Given the description of an element on the screen output the (x, y) to click on. 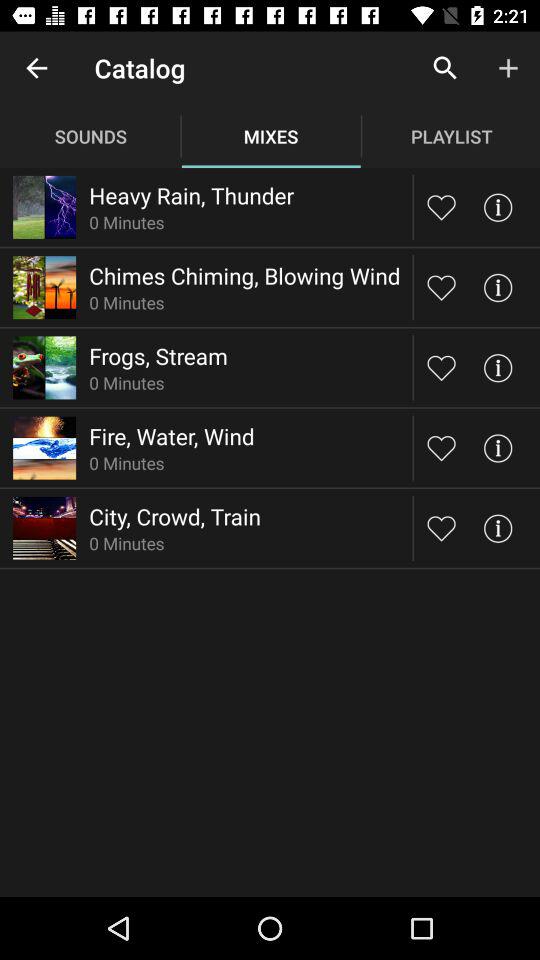
more information (498, 287)
